Given the description of an element on the screen output the (x, y) to click on. 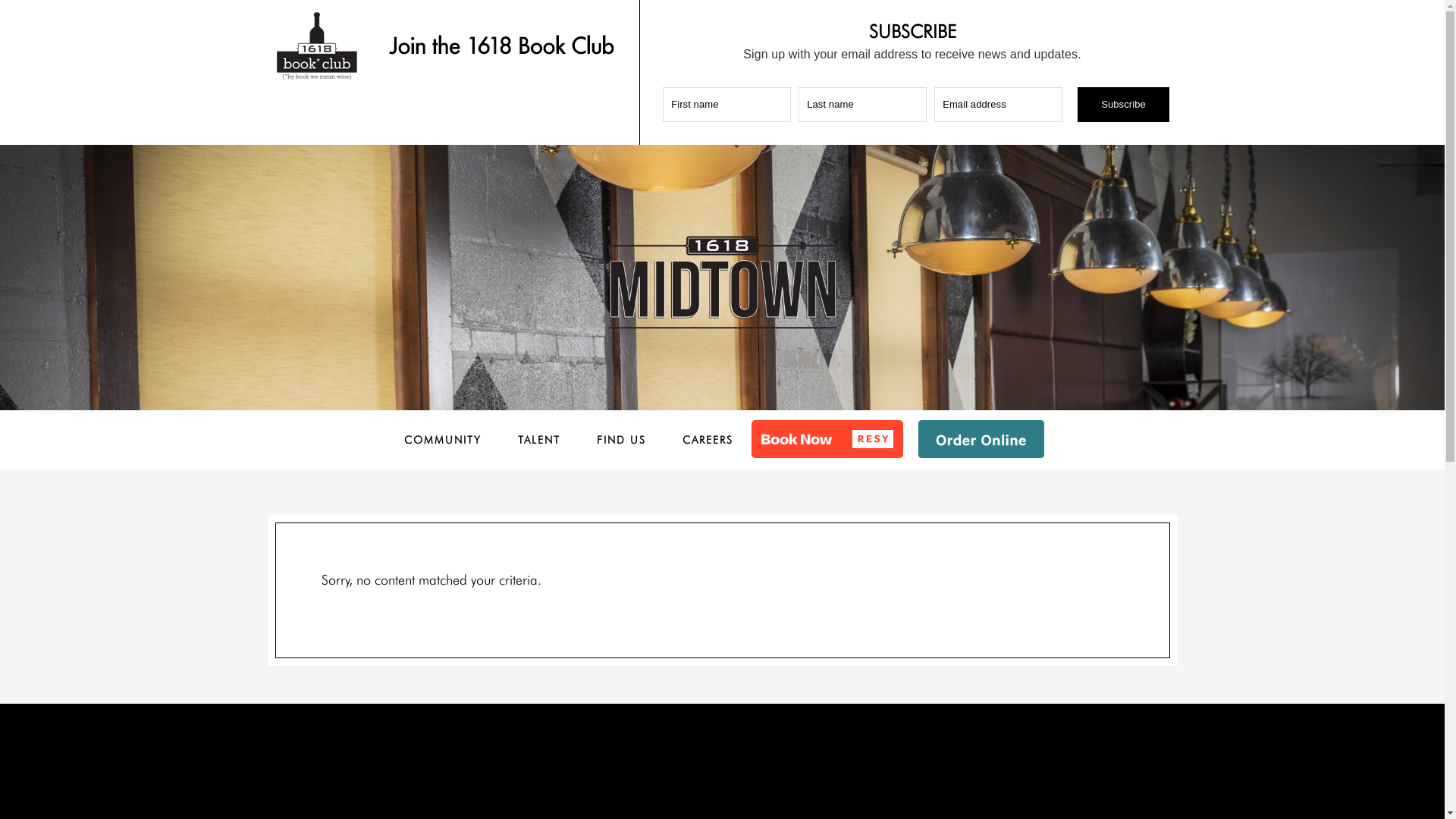
TALENT Element type: text (537, 439)
CAREERS Element type: text (707, 439)
FIND US Element type: text (620, 439)
1618 MIDTOWN Element type: text (721, 281)
Subscribe Element type: text (1123, 104)
COMMUNITY Element type: text (441, 439)
